Given the description of an element on the screen output the (x, y) to click on. 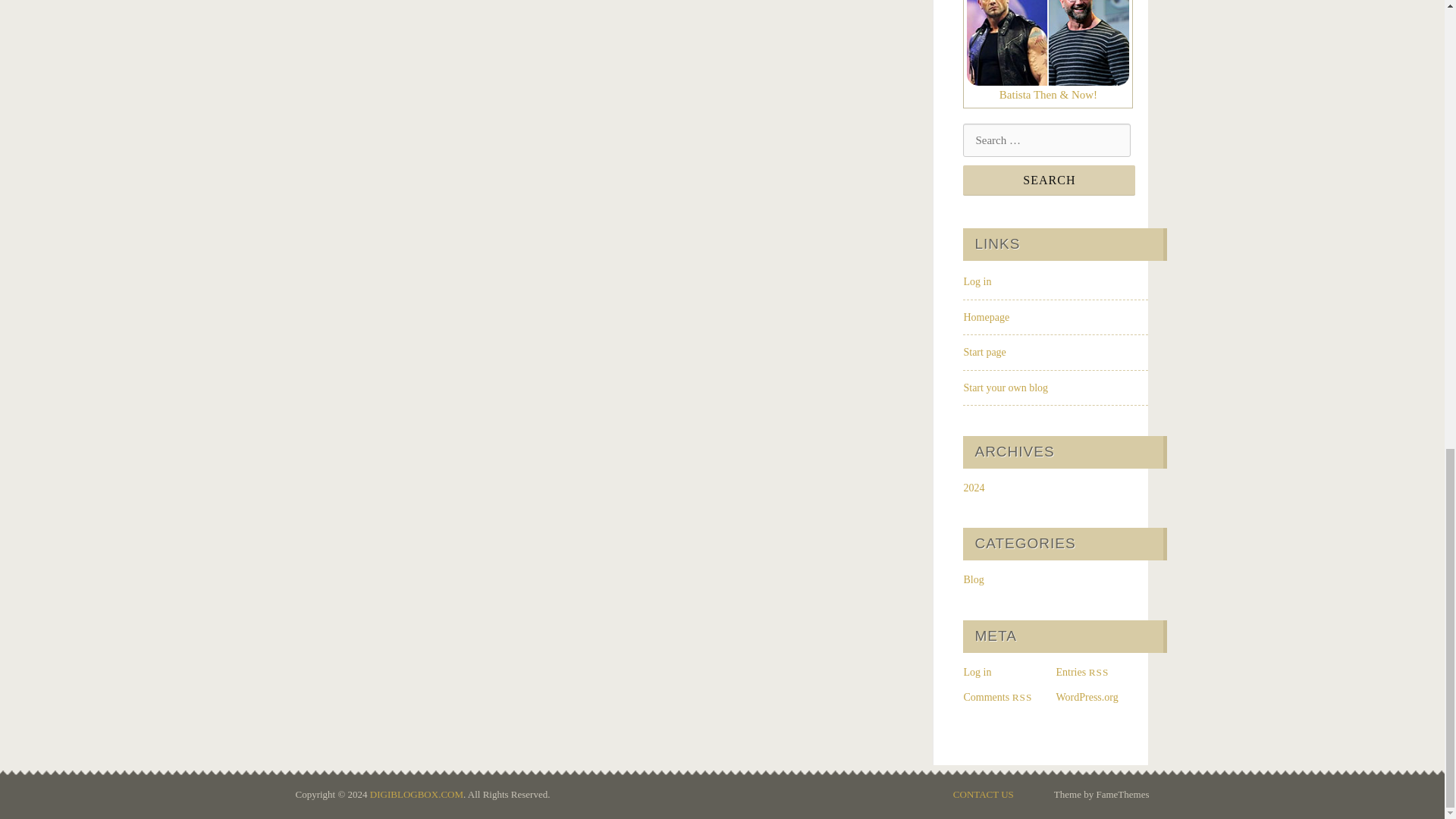
Homepage (985, 317)
Search (1048, 180)
Start page (984, 351)
Search (1048, 180)
CONTACT US (983, 793)
2024 (973, 487)
Really Simple Syndication (1099, 672)
Really Simple Syndication (1021, 696)
WordPress.org (1086, 696)
